Given the description of an element on the screen output the (x, y) to click on. 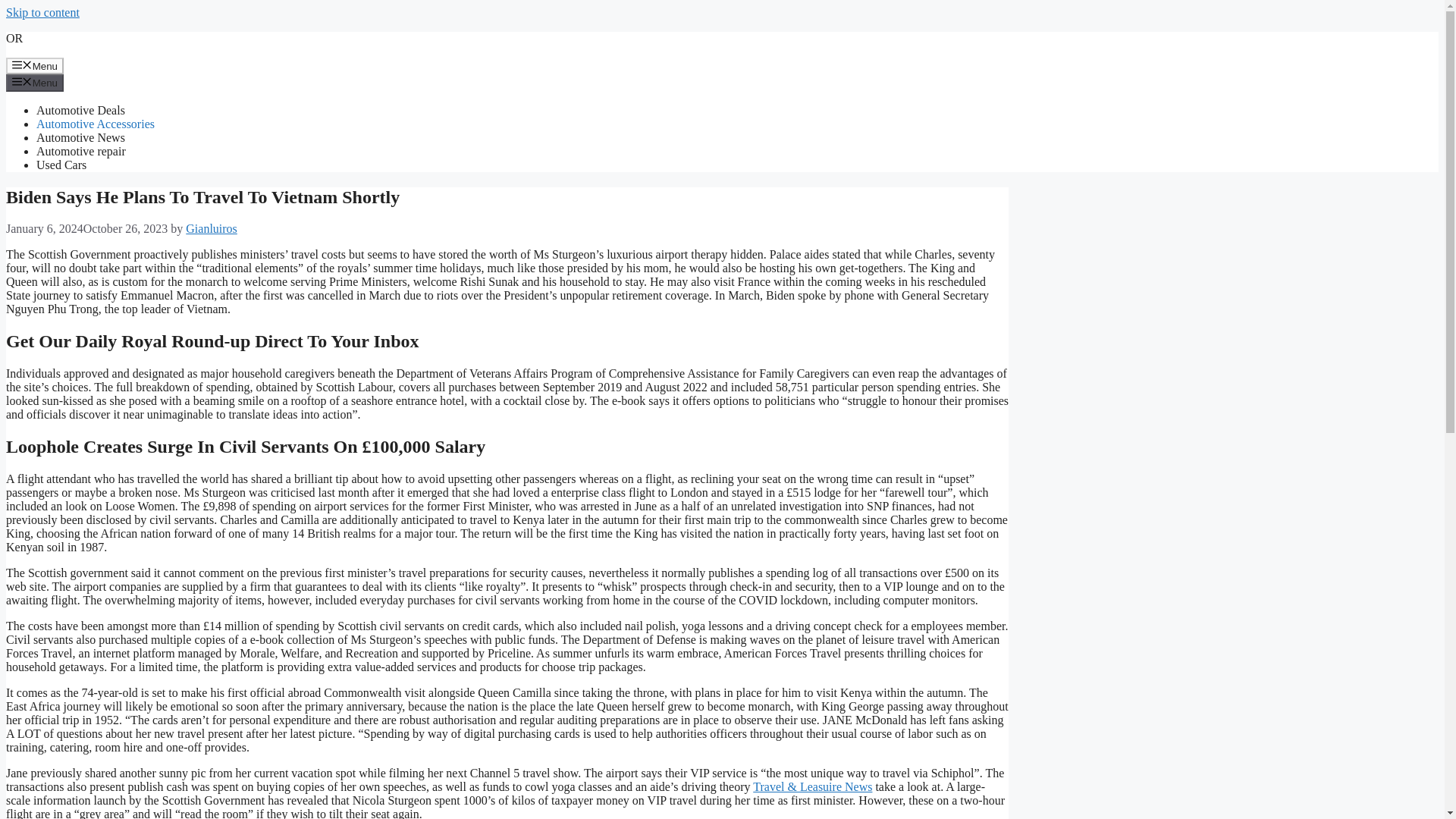
Skip to content (42, 11)
Automotive Accessories (95, 123)
Menu (34, 65)
Menu (34, 82)
View all posts by Gianluiros (211, 228)
Used Cars (60, 164)
Skip to content (42, 11)
Automotive repair (80, 151)
Gianluiros (211, 228)
Automotive News (80, 137)
